Given the description of an element on the screen output the (x, y) to click on. 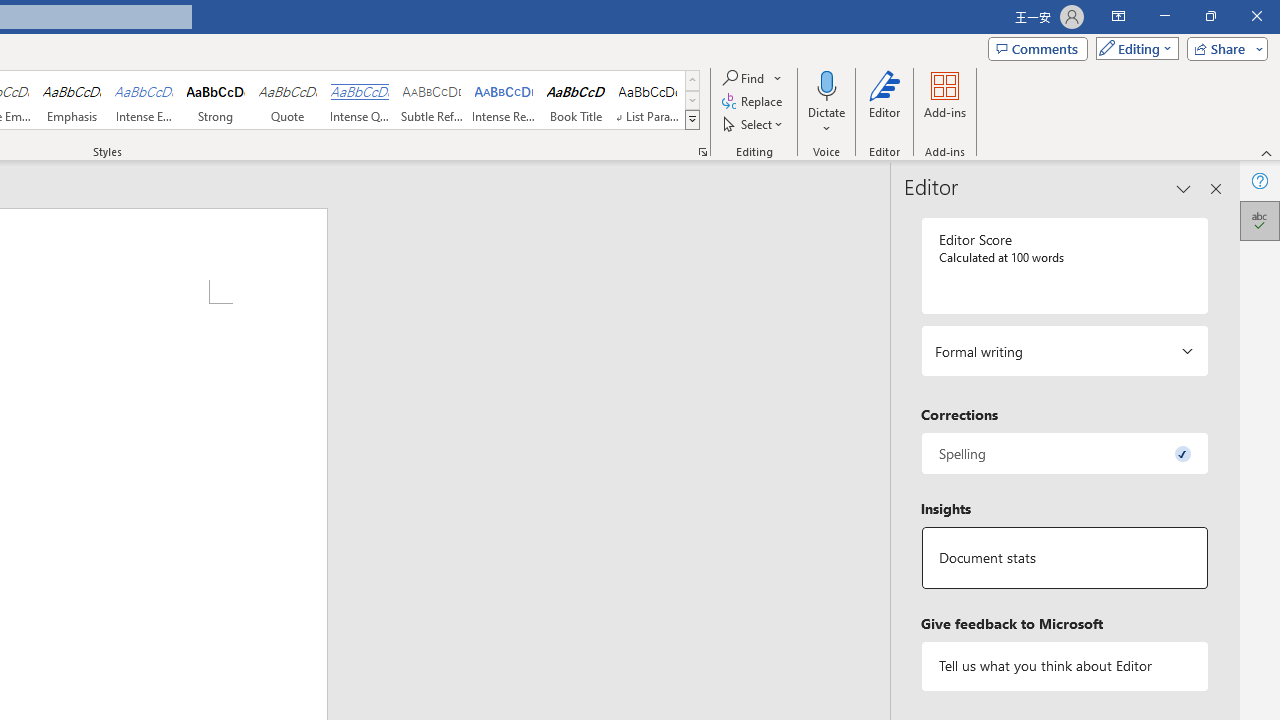
Intense Emphasis (143, 100)
Book Title (575, 100)
Intense Reference (504, 100)
Tell us what you think about Editor (1064, 666)
Spelling, 0 issues. Press space or enter to review items. (1064, 452)
